Given the description of an element on the screen output the (x, y) to click on. 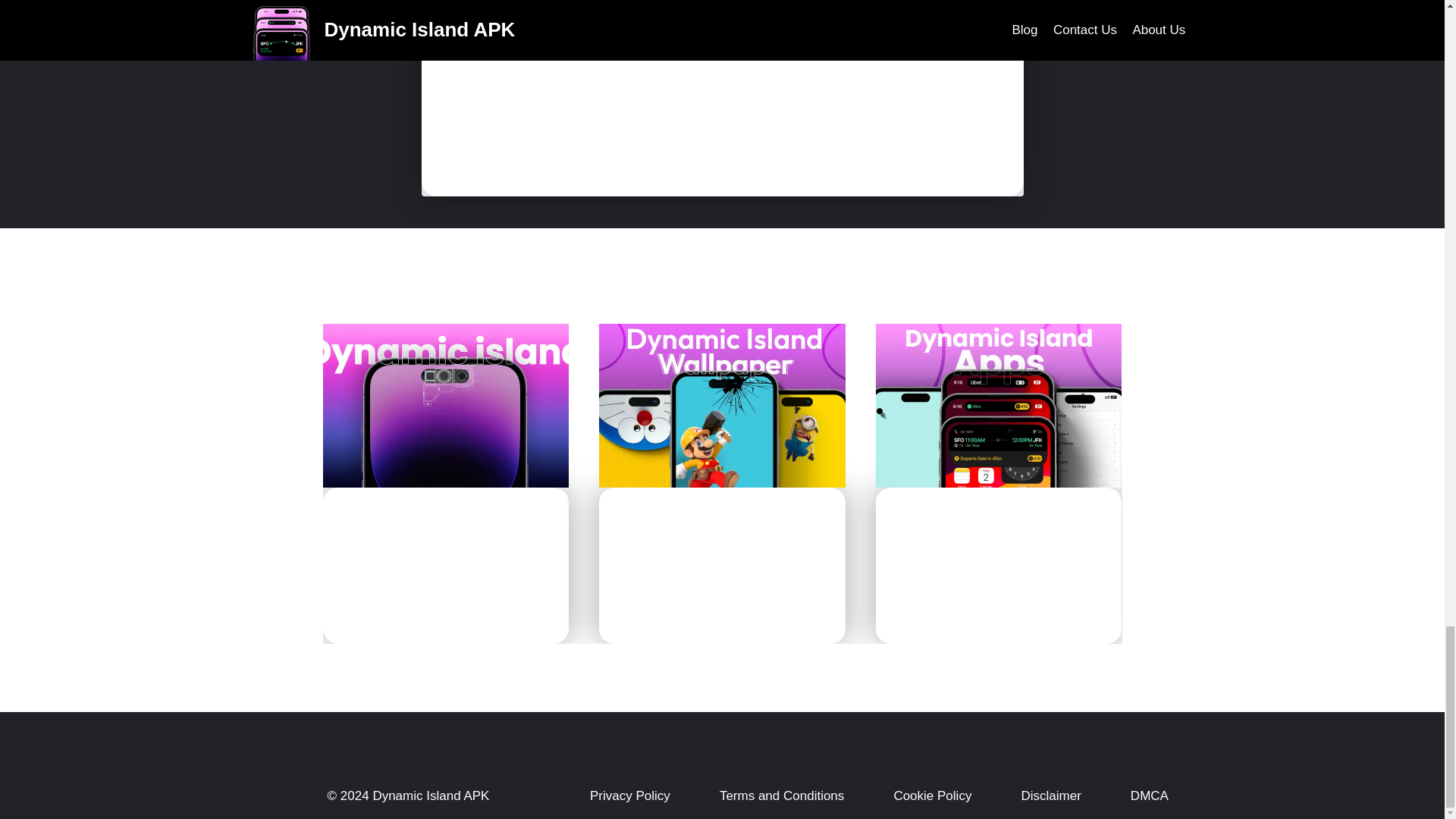
Terms and Conditions (781, 795)
DMCA (1149, 795)
Everything You Need to Know About Dynamic Island (431, 546)
Cookie Policy (931, 795)
Aden (926, 598)
Disclaimer (1051, 795)
Aden (373, 598)
Cool Third-Party Apps that Use Dynamic Island on iPhone (996, 546)
Aden (649, 598)
Privacy Policy (630, 795)
